Given the description of an element on the screen output the (x, y) to click on. 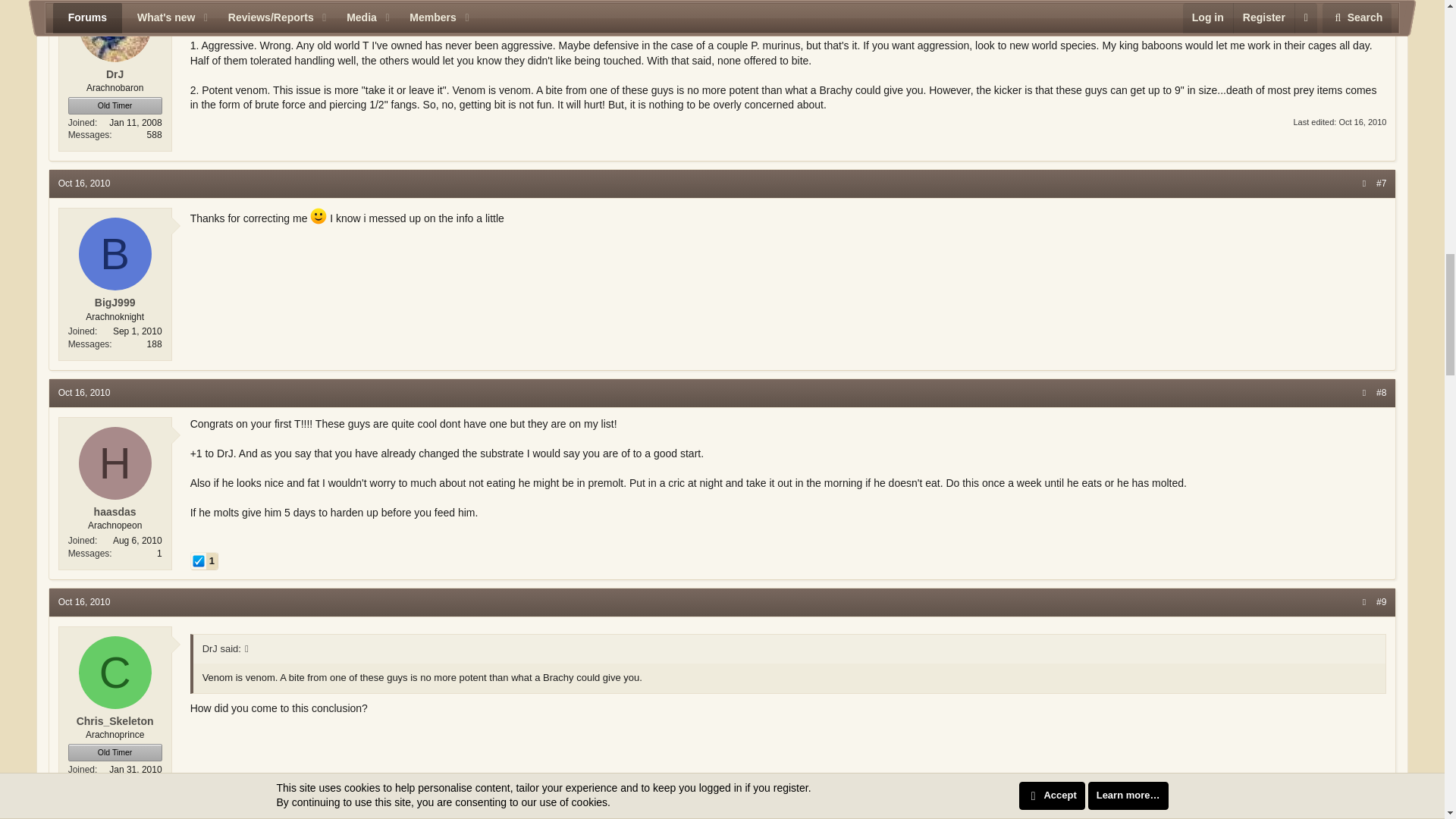
Oct 16, 2010 at 2:09 AM (84, 392)
Agree (203, 560)
Oct 16, 2010 at 2:00 AM (84, 183)
Oct 16, 2010 at 1:58 AM (1362, 121)
Agree (198, 561)
